Given the description of an element on the screen output the (x, y) to click on. 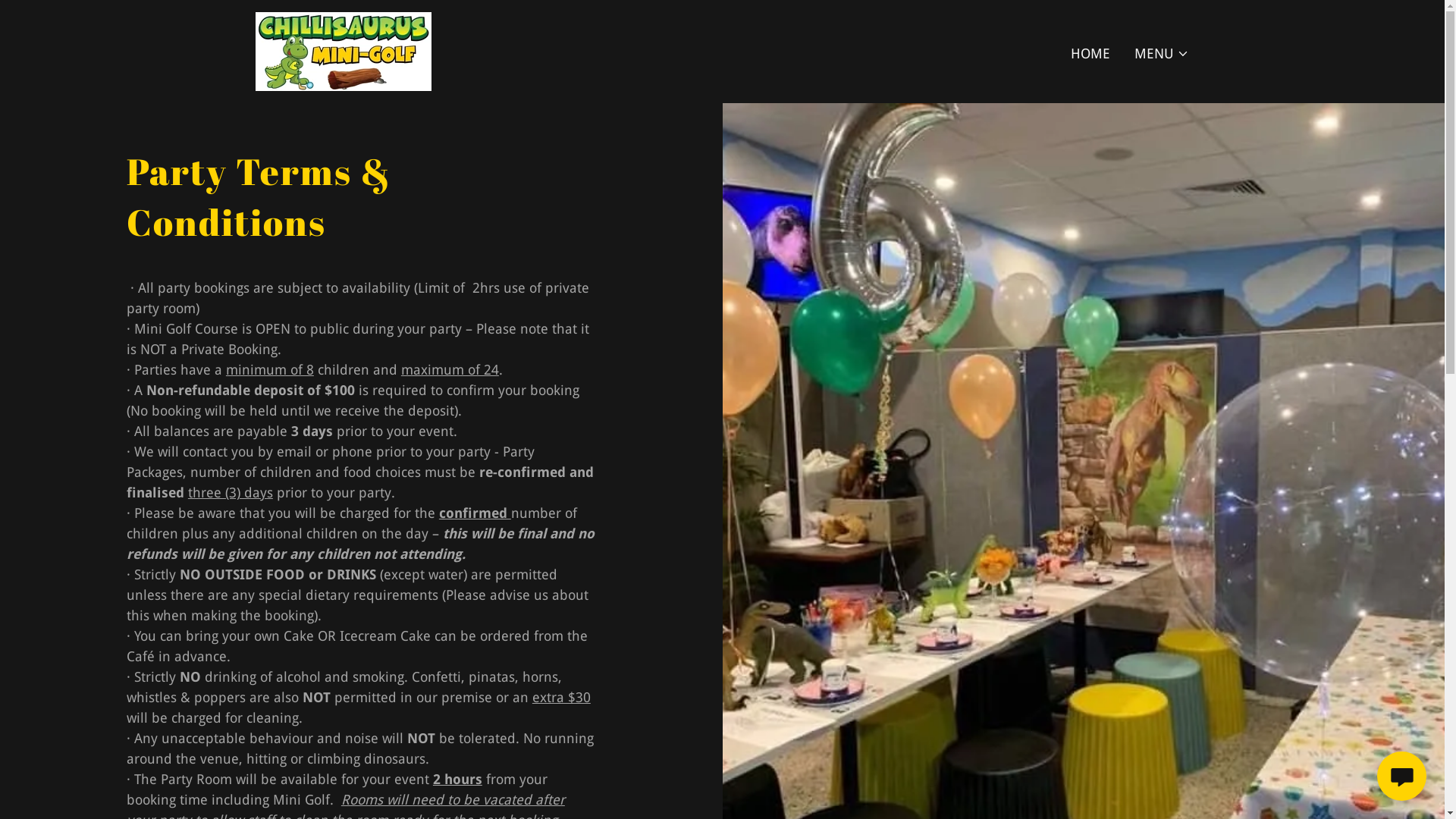
HOME Element type: text (1090, 52)
Chillisaurus 
Indoor Mini Golf Element type: hover (342, 50)
MENU Element type: text (1161, 52)
